Given the description of an element on the screen output the (x, y) to click on. 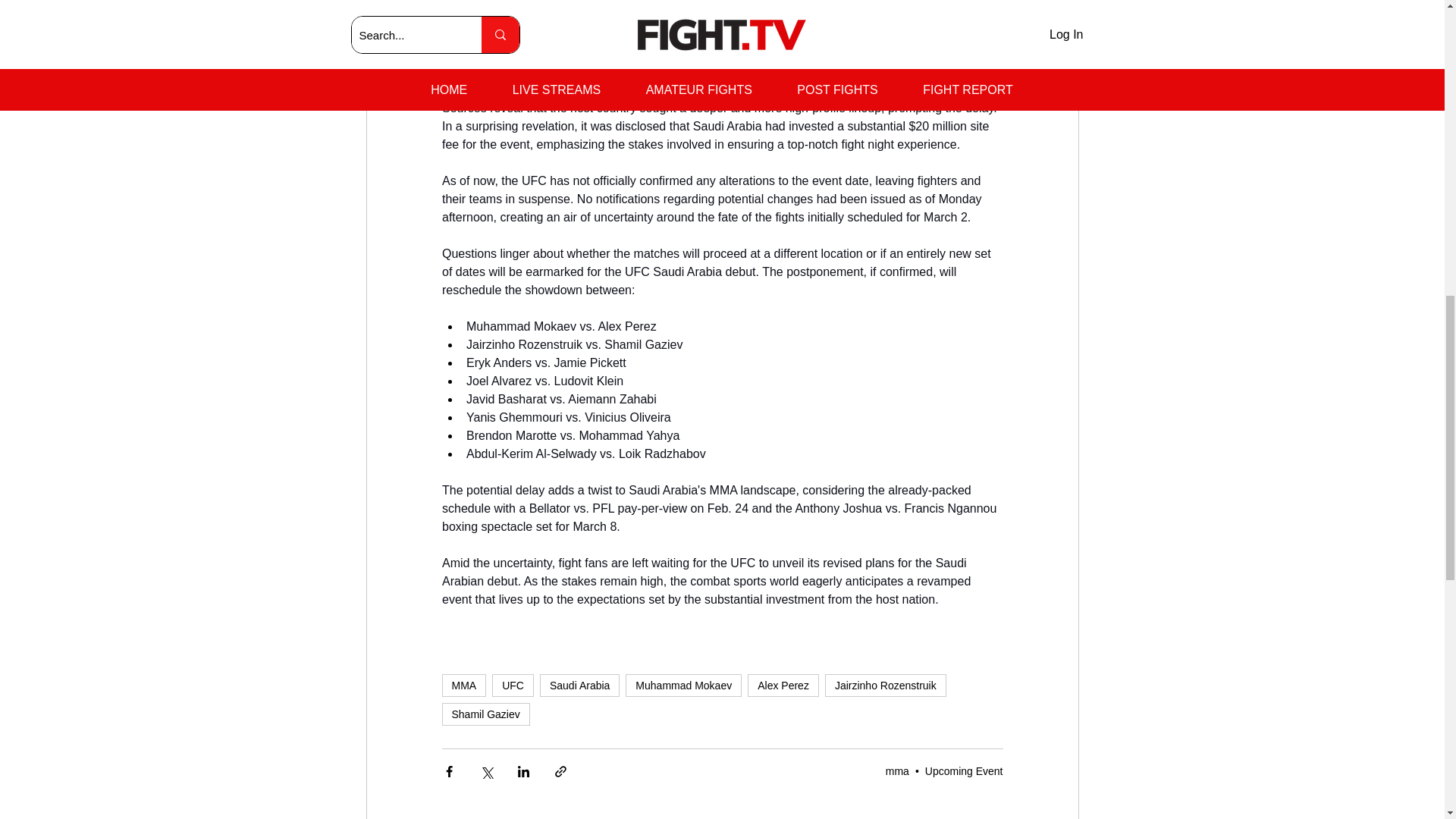
Muhammad Mokaev (683, 685)
Jairzinho Rozenstruik (885, 685)
Saudi Arabia (580, 685)
Shamil Gaziev (485, 713)
MMA (463, 685)
mma (896, 770)
Alex Perez (783, 685)
UFC (513, 685)
